Given the description of an element on the screen output the (x, y) to click on. 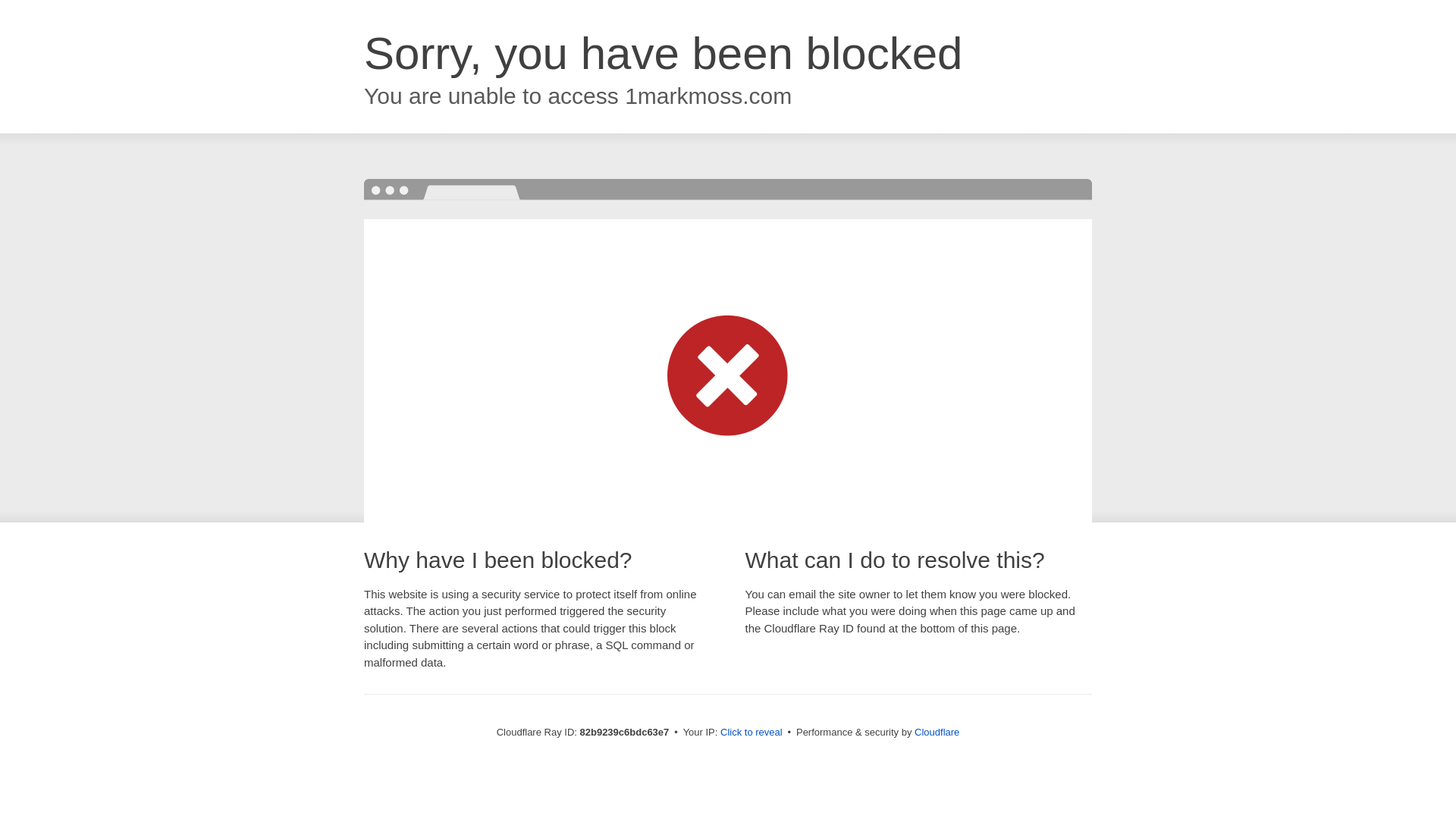
Click to reveal Element type: text (751, 732)
Cloudflare Element type: text (936, 731)
